Given the description of an element on the screen output the (x, y) to click on. 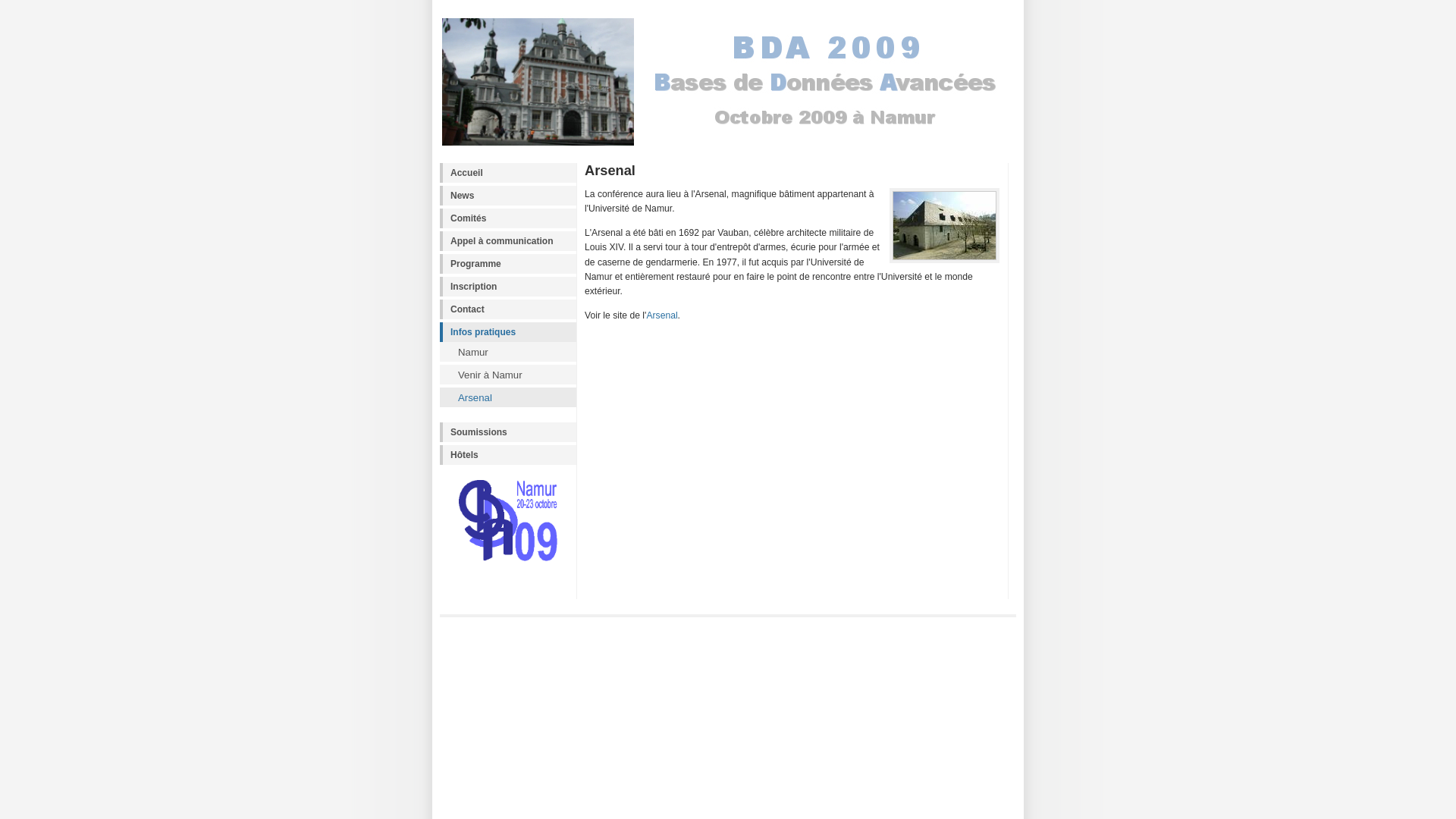
Inscription Element type: text (507, 286)
News Element type: text (507, 195)
Arsenal Element type: text (661, 315)
Soumissions Element type: text (507, 432)
Contact Element type: text (507, 309)
Infos pratiques Element type: text (507, 332)
Accueil Element type: text (507, 172)
Programme Element type: text (507, 263)
Arsenal Element type: text (507, 397)
Namur Element type: text (507, 351)
